Given the description of an element on the screen output the (x, y) to click on. 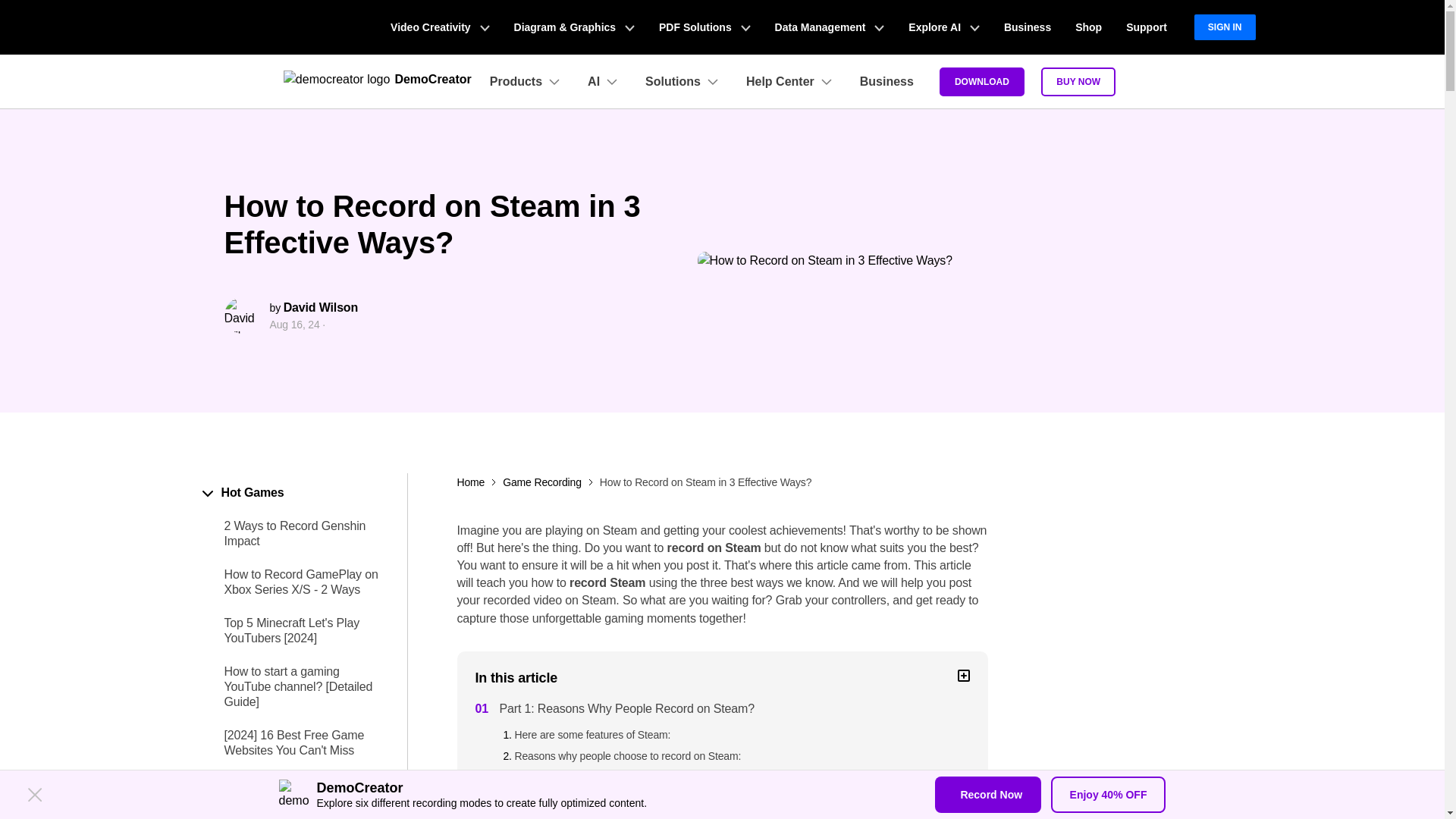
PDF Solutions (704, 27)
Data Management (829, 27)
Video Creativity (439, 27)
Explore AI (943, 27)
Record Now (987, 794)
